Given the description of an element on the screen output the (x, y) to click on. 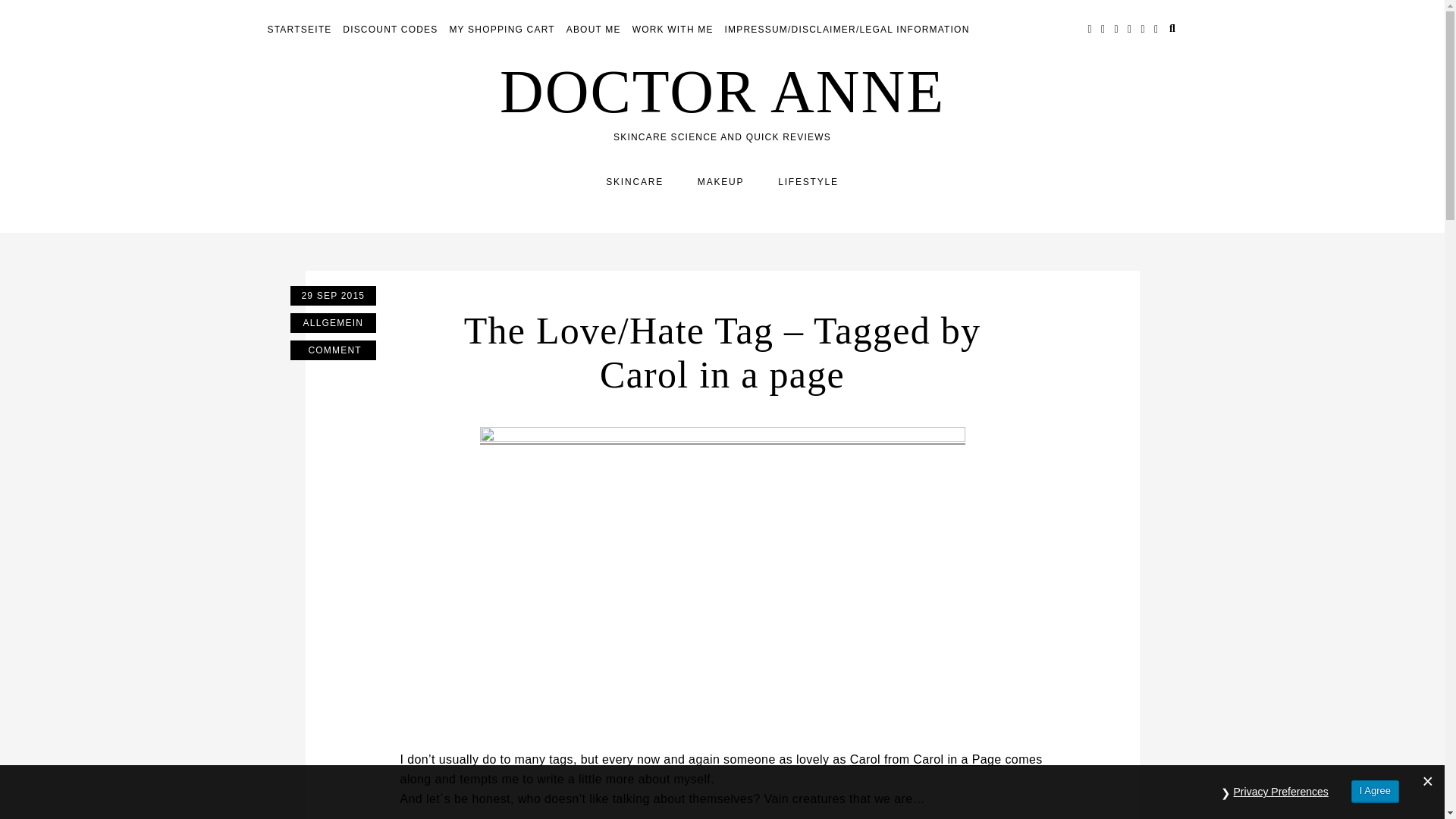
View all posts in Allgemein (332, 322)
WORK WITH ME (672, 29)
MY SHOPPING CART (501, 29)
DISCOUNT CODES (390, 29)
DOCTOR ANNE (721, 91)
ABOUT ME (593, 29)
STARTSEITE (298, 29)
